Given the description of an element on the screen output the (x, y) to click on. 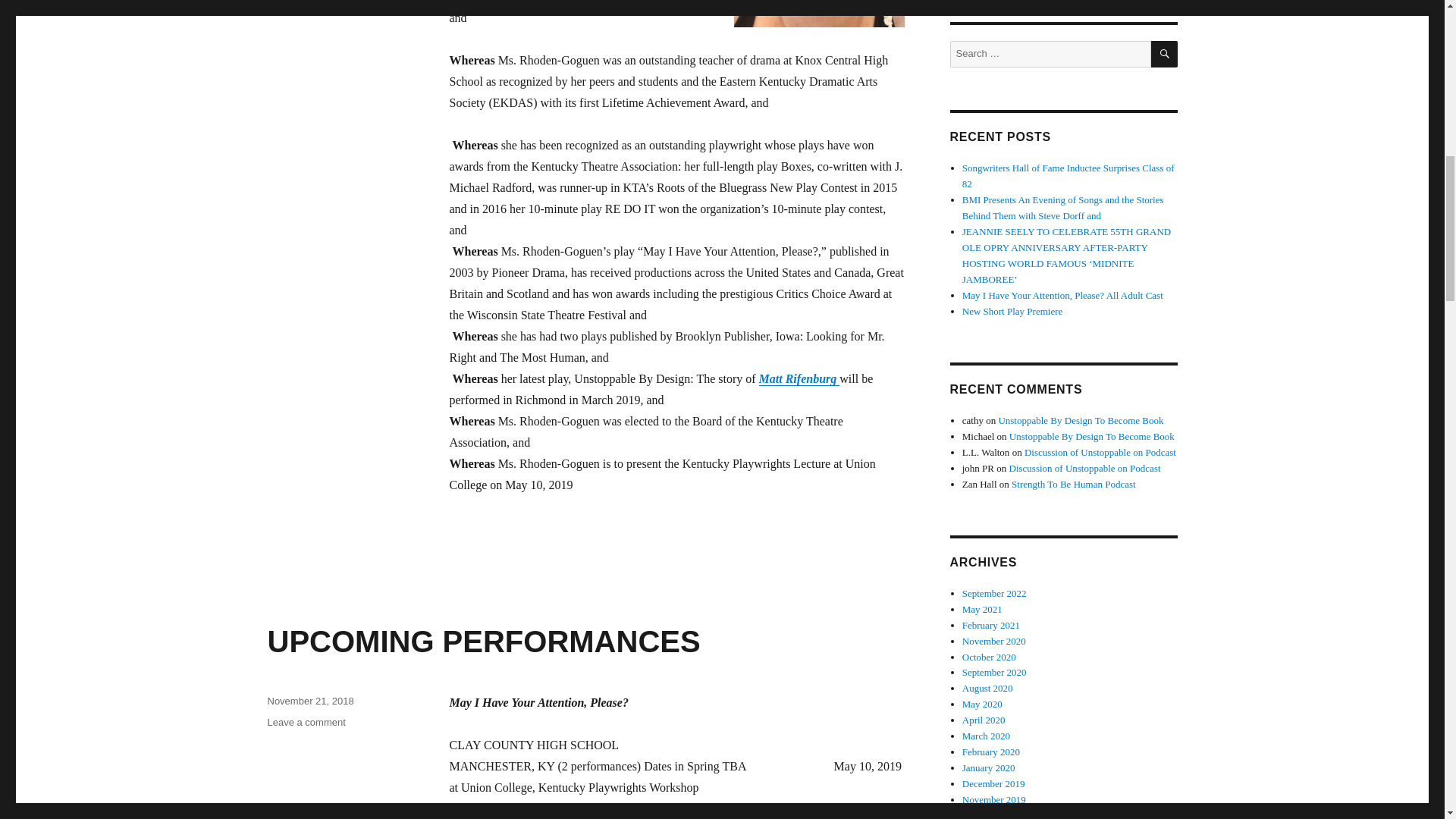
November 21, 2018 (305, 722)
UPCOMING PERFORMANCES (309, 700)
Matt Rifenburg (483, 641)
